Given the description of an element on the screen output the (x, y) to click on. 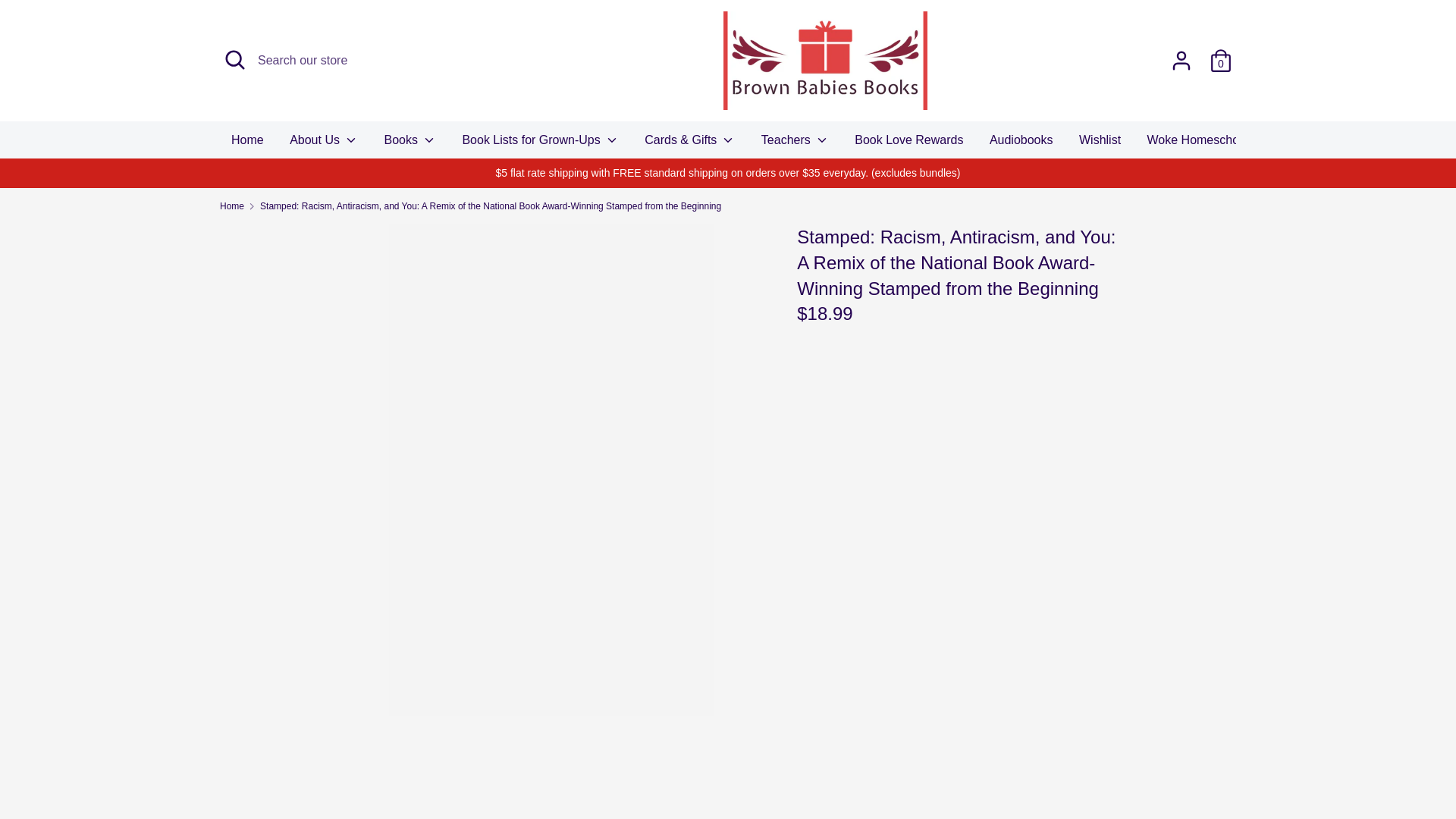
0 (1220, 54)
